Given the description of an element on the screen output the (x, y) to click on. 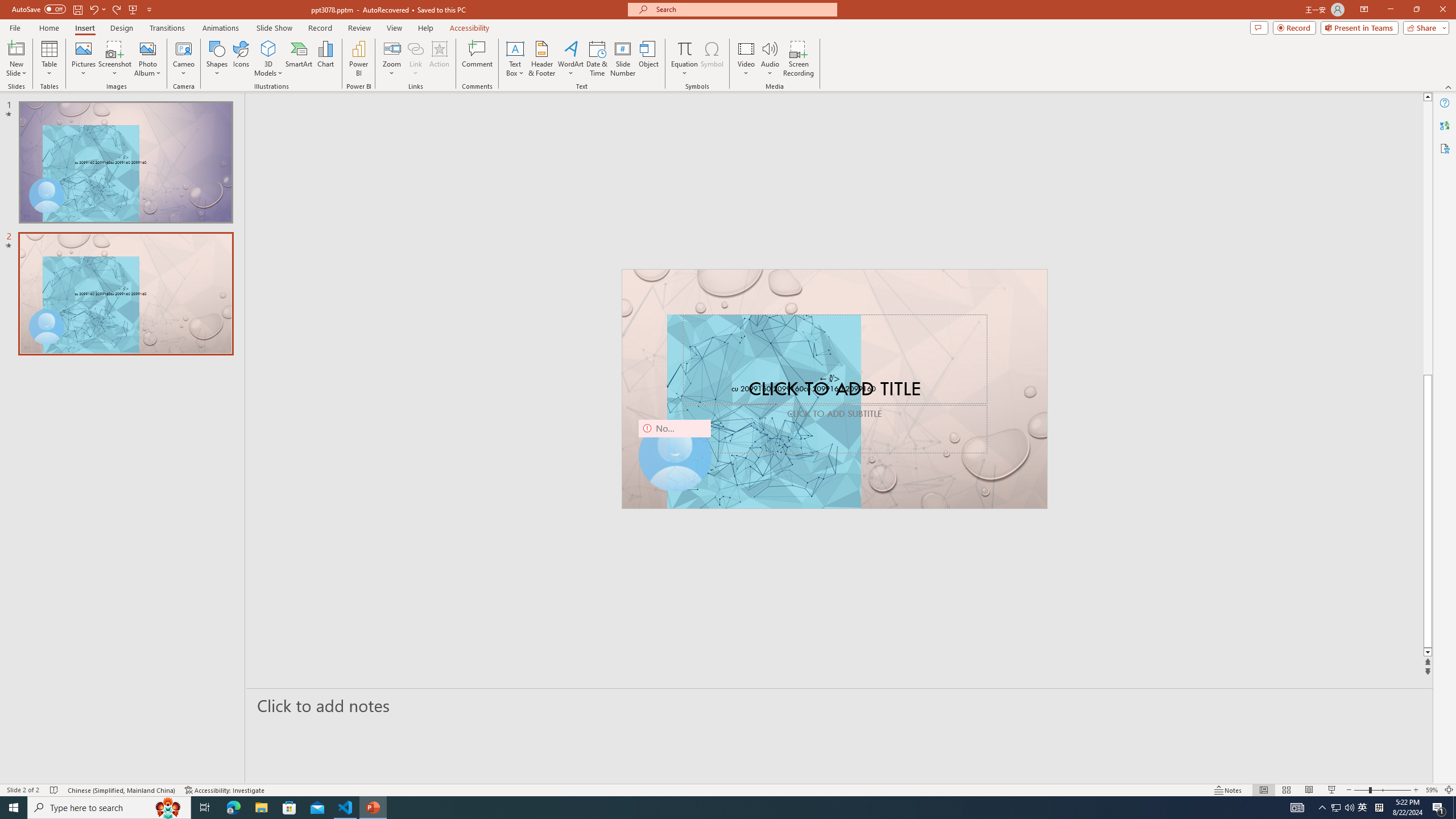
Screenshot (114, 58)
Date & Time... (596, 58)
Comment (476, 58)
Power BI (358, 58)
